Given the description of an element on the screen output the (x, y) to click on. 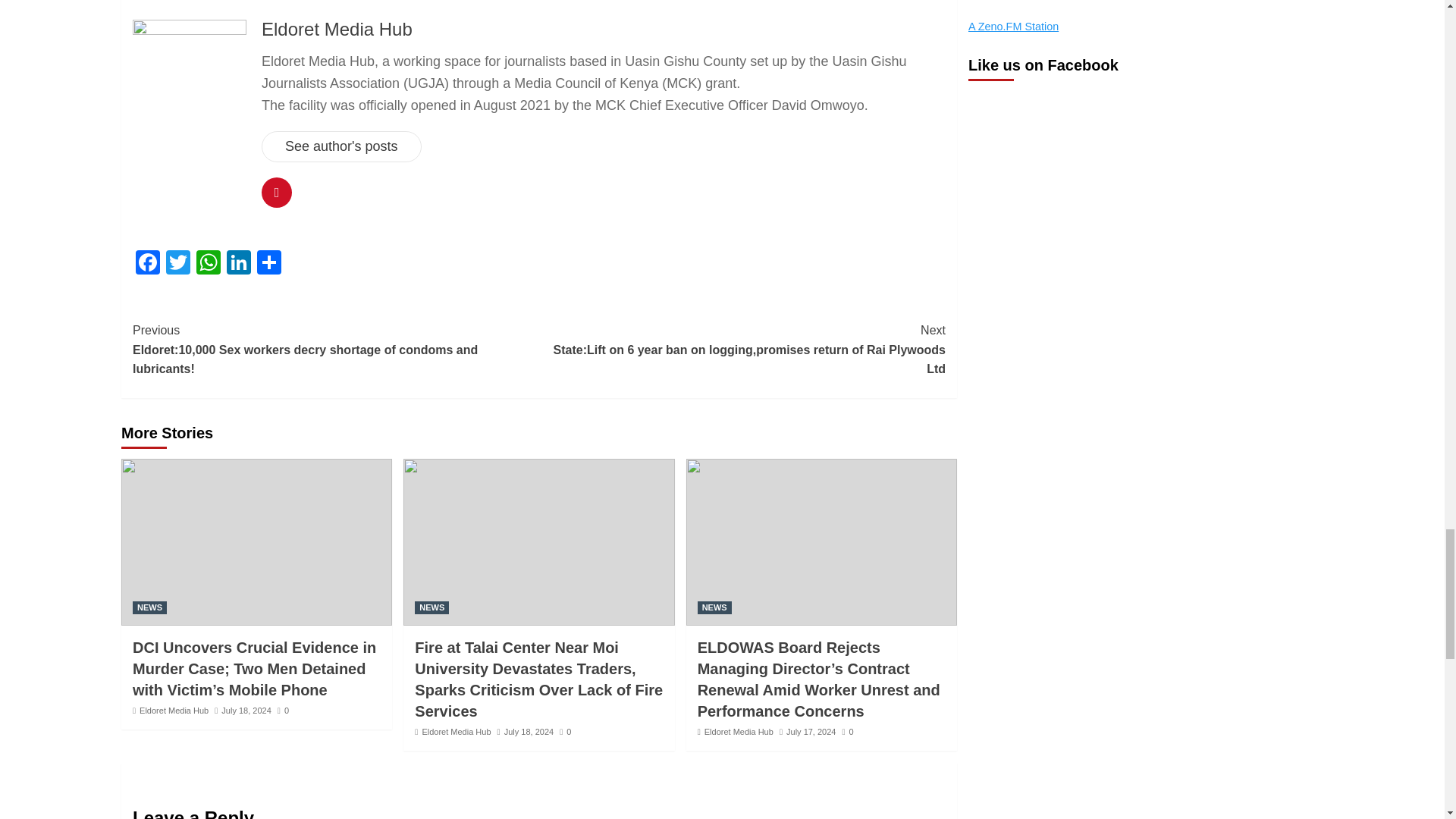
Twitter (178, 264)
Twitter (178, 264)
LinkedIn (238, 264)
WhatsApp (208, 264)
Facebook (147, 264)
See author's posts (342, 146)
Facebook (147, 264)
Eldoret Media Hub (337, 28)
